Given the description of an element on the screen output the (x, y) to click on. 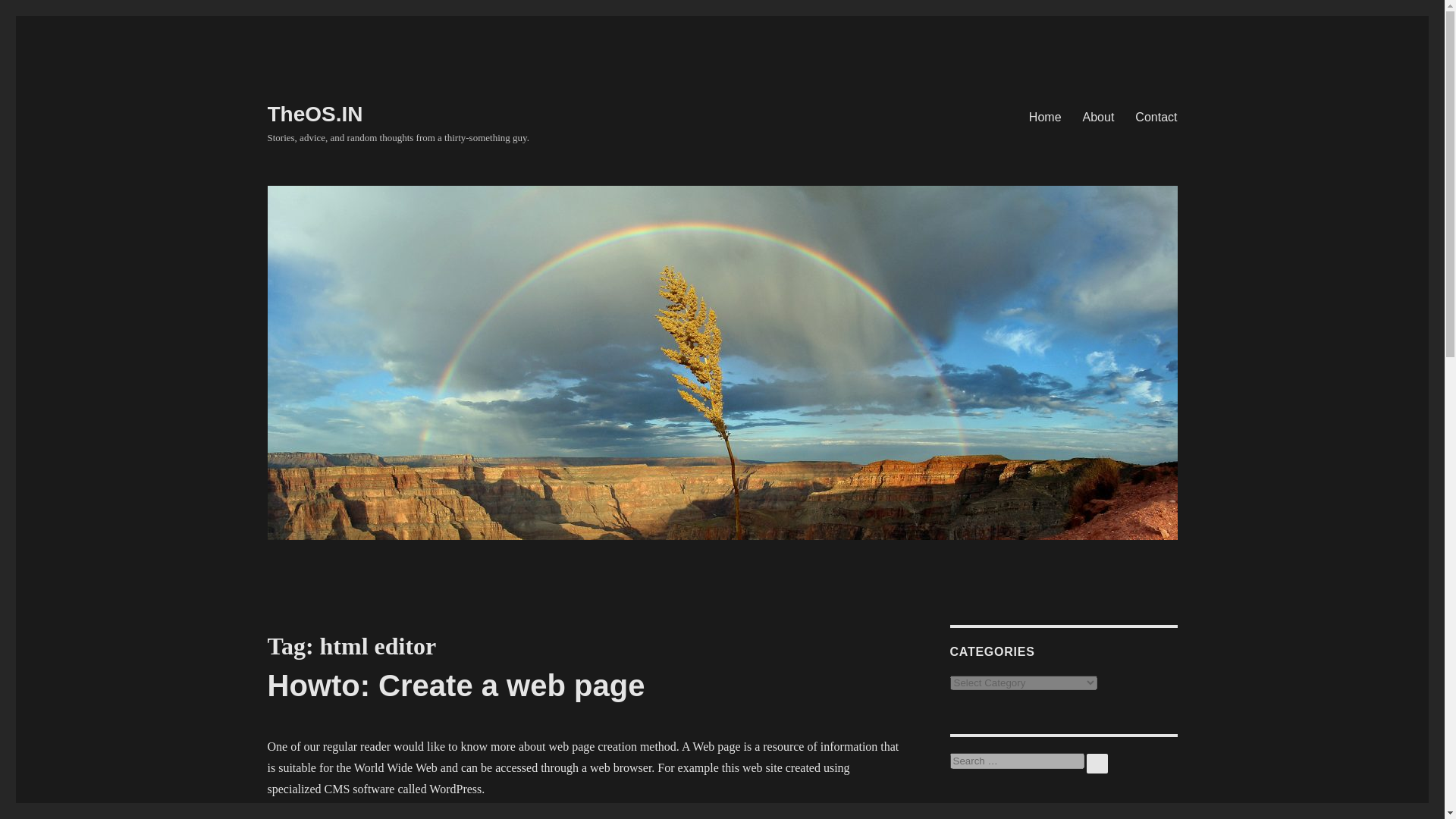
SEARCH (1097, 763)
Contact (1156, 116)
Home (1044, 116)
Howto: Create a web page (455, 685)
About (1098, 116)
TheOS.IN (314, 114)
